Given the description of an element on the screen output the (x, y) to click on. 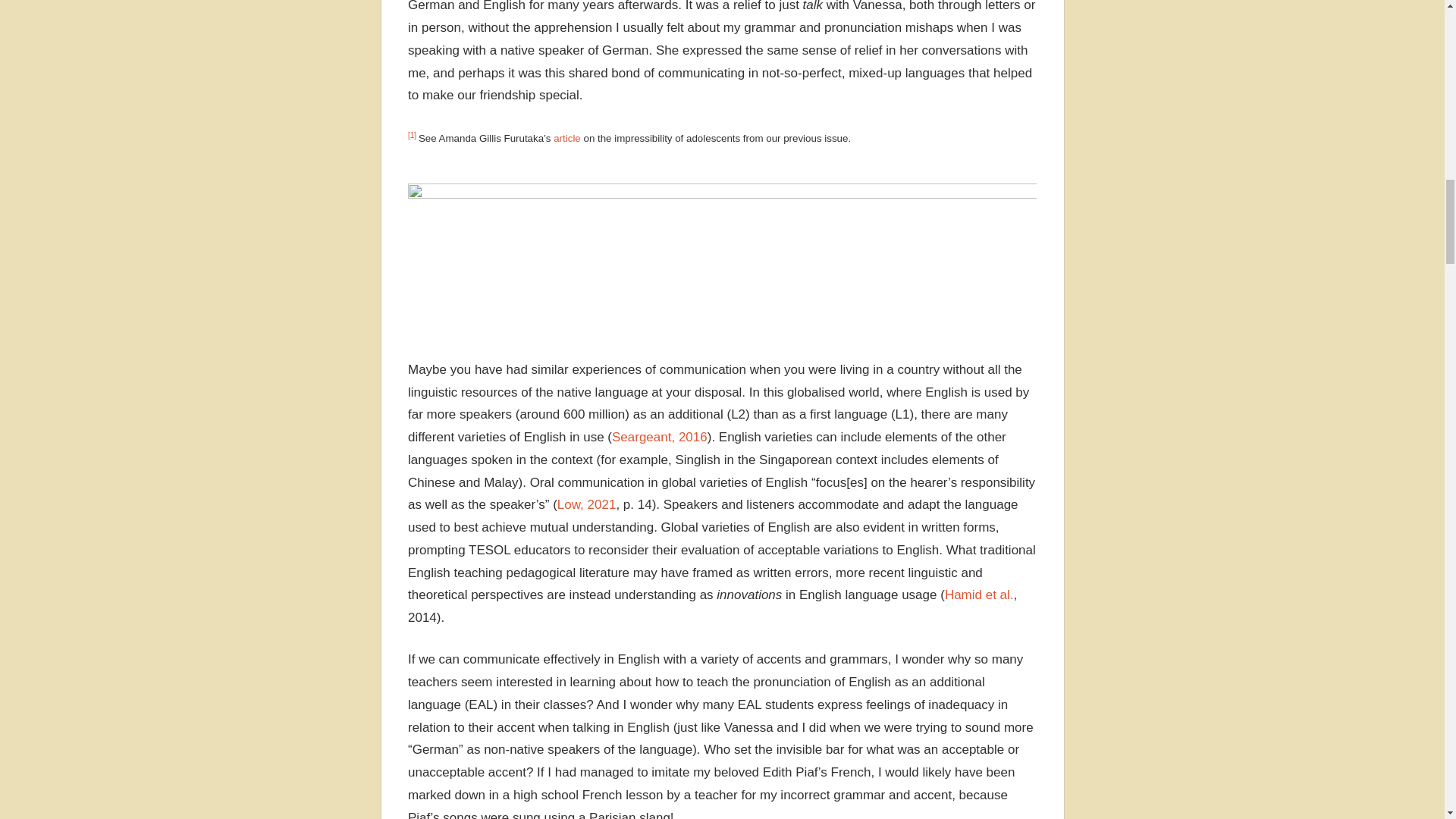
Seargeant, 2016 (659, 436)
article (568, 138)
Low, 2021 (586, 504)
Hamid et al. (978, 594)
